Given the description of an element on the screen output the (x, y) to click on. 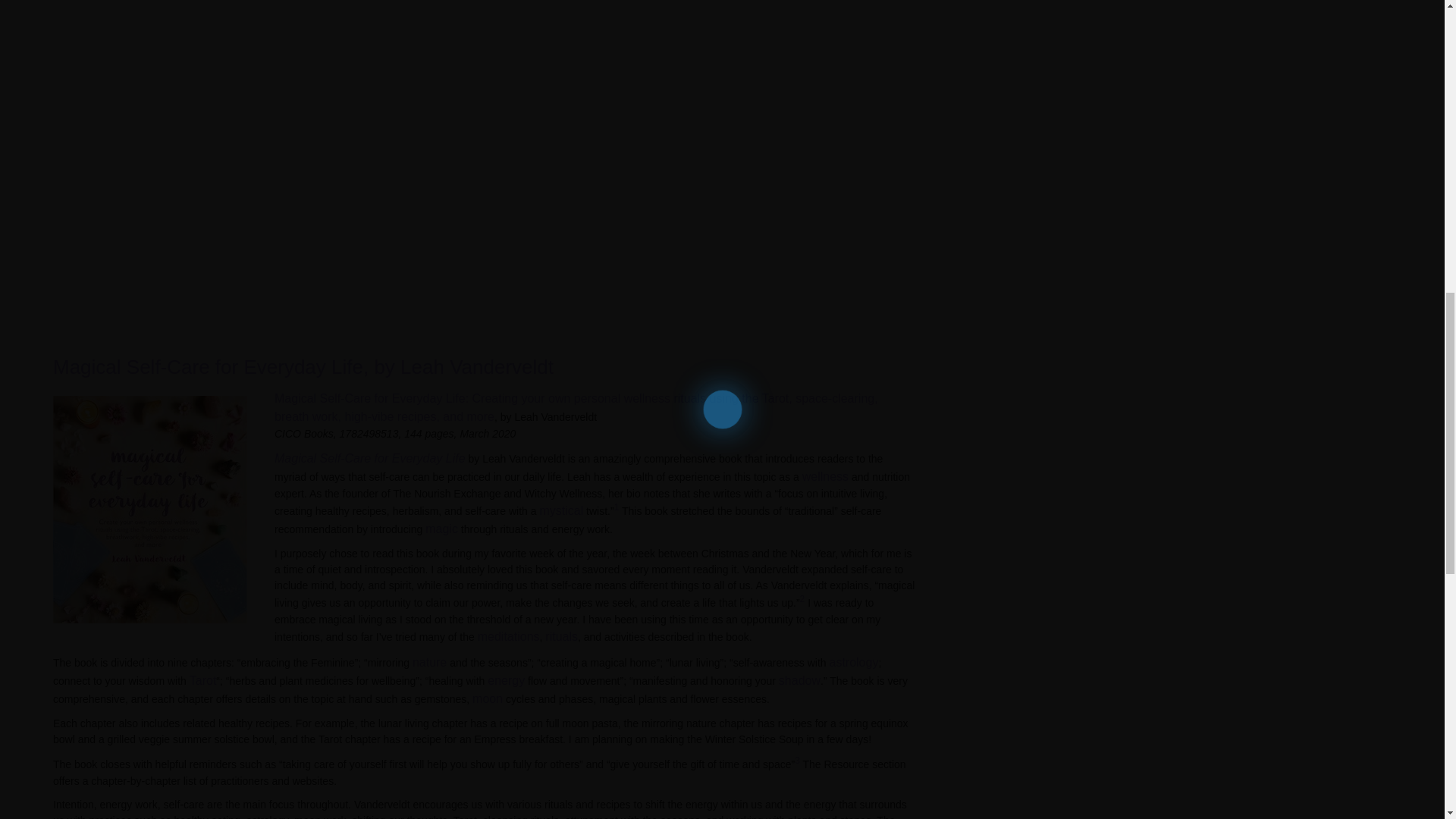
moon (486, 698)
wellness (825, 476)
Magical Self-Care for Everyday Life (370, 458)
shadow (799, 680)
astrology (852, 662)
nature (429, 662)
rituals (561, 635)
meditations (508, 635)
magic (441, 528)
